Given the description of an element on the screen output the (x, y) to click on. 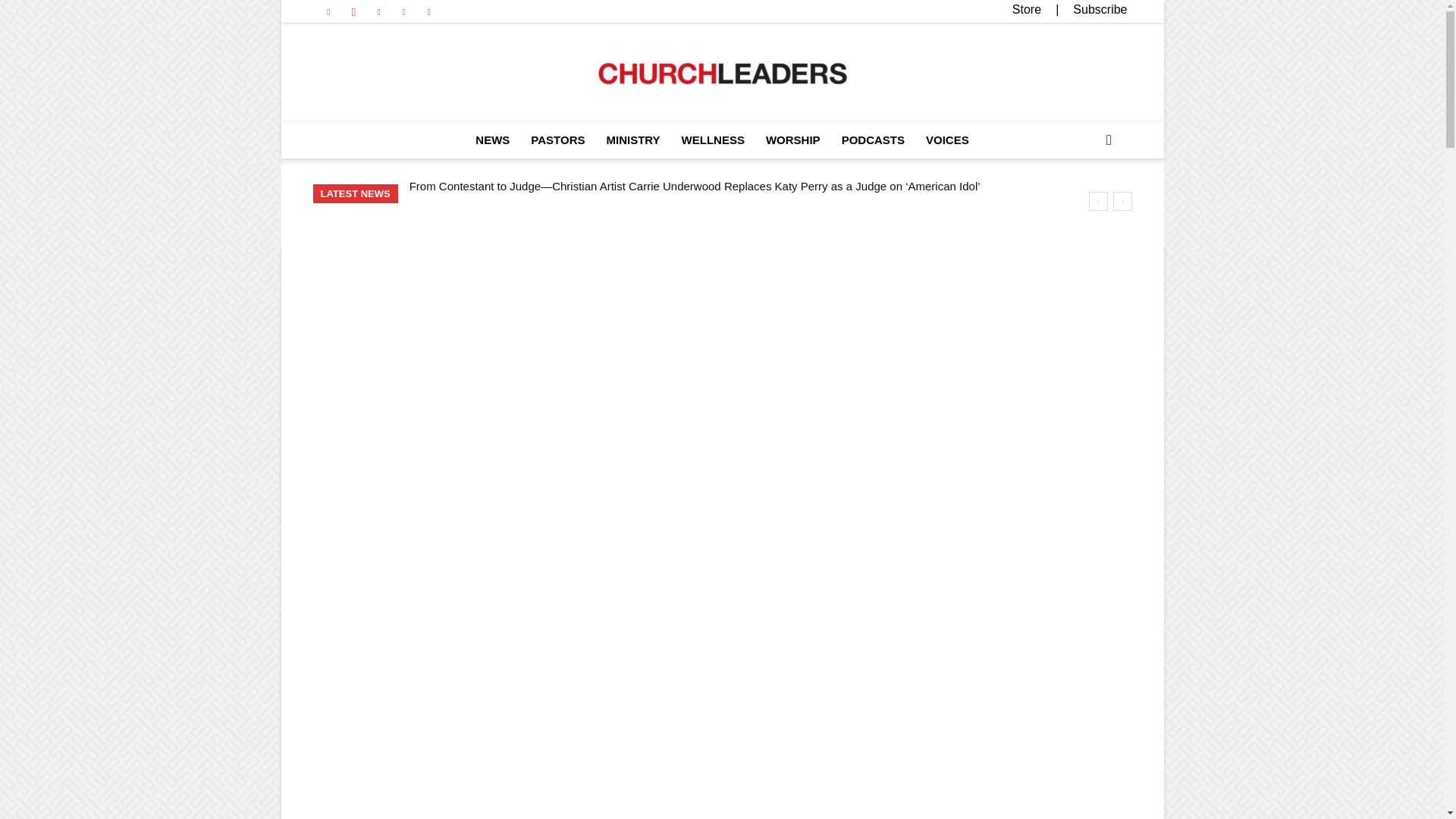
Youtube (429, 11)
Twitter (403, 11)
Instagram (353, 11)
NEWS (491, 140)
Facebook (328, 11)
ChurchLeaders Home (721, 73)
Pinterest (379, 11)
ChurchLeaders (722, 73)
Subscribe (1099, 9)
Store (1026, 9)
